Given the description of an element on the screen output the (x, y) to click on. 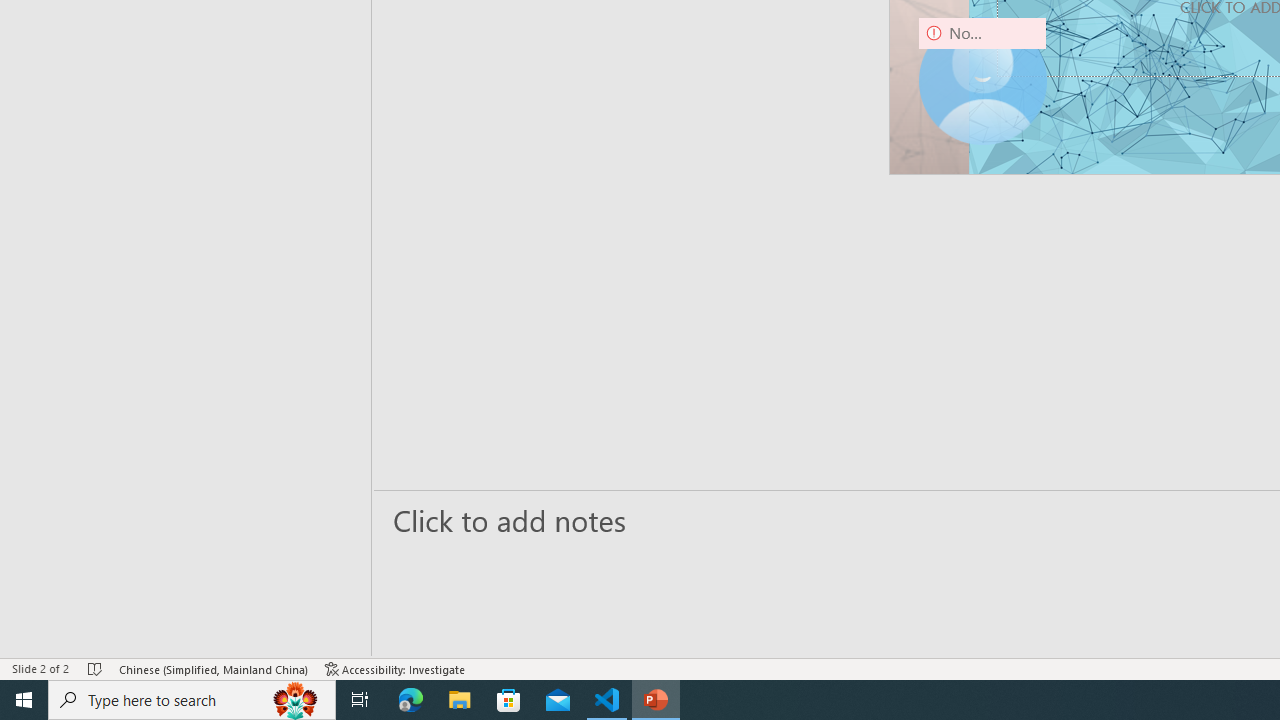
Camera 9, No camera detected. (982, 80)
